Given the description of an element on the screen output the (x, y) to click on. 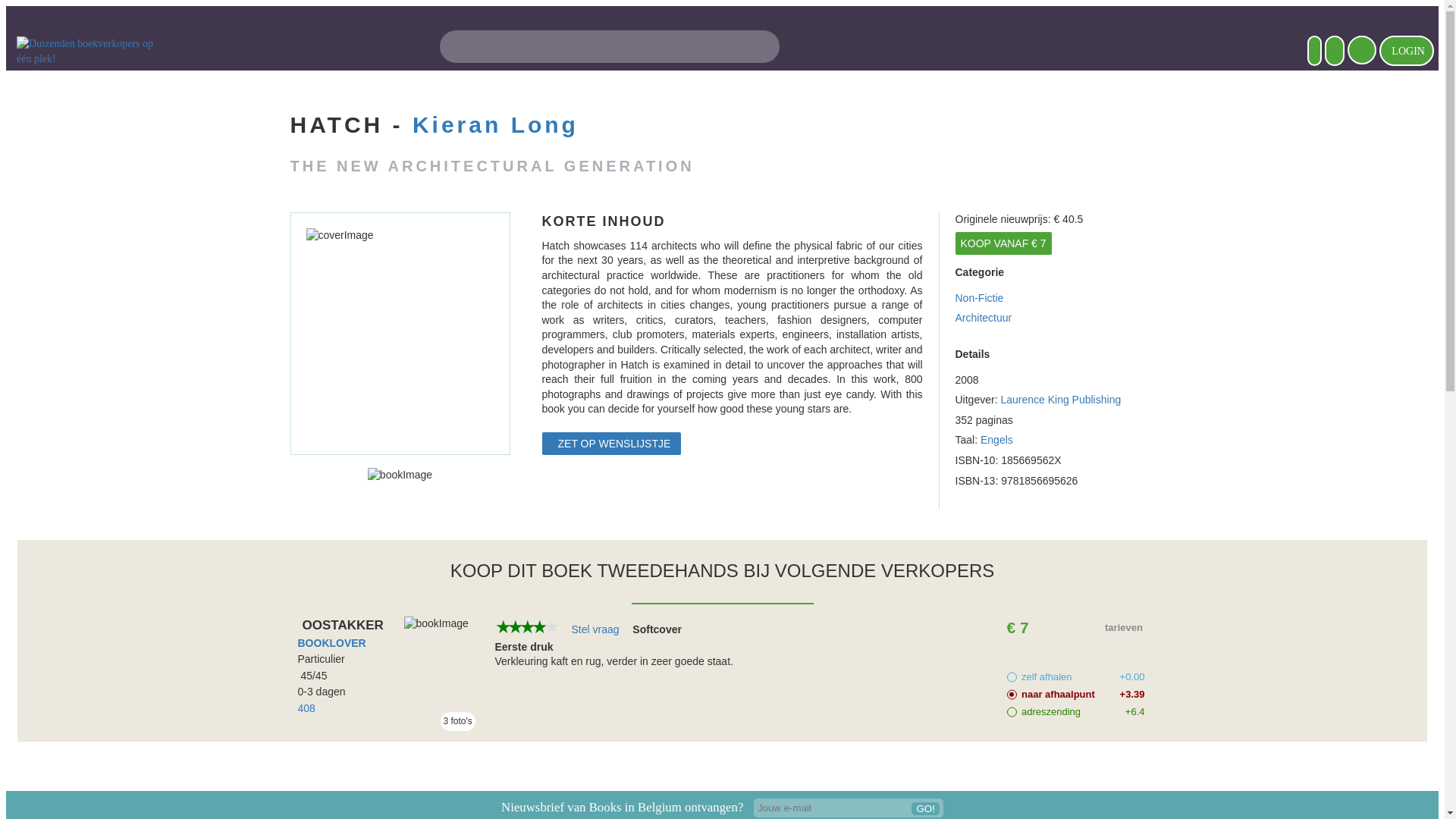
tarieven  (1124, 628)
408  (307, 707)
Stel vraag (596, 629)
Laurence King Publishing (1060, 399)
GO! (925, 808)
Architectuur (1054, 318)
ZET OP WENSLIJSTJE (611, 443)
Homepage logo Books in Belgium (92, 51)
BOOKLOVER (331, 643)
Non-Fictie (1054, 298)
